Given the description of an element on the screen output the (x, y) to click on. 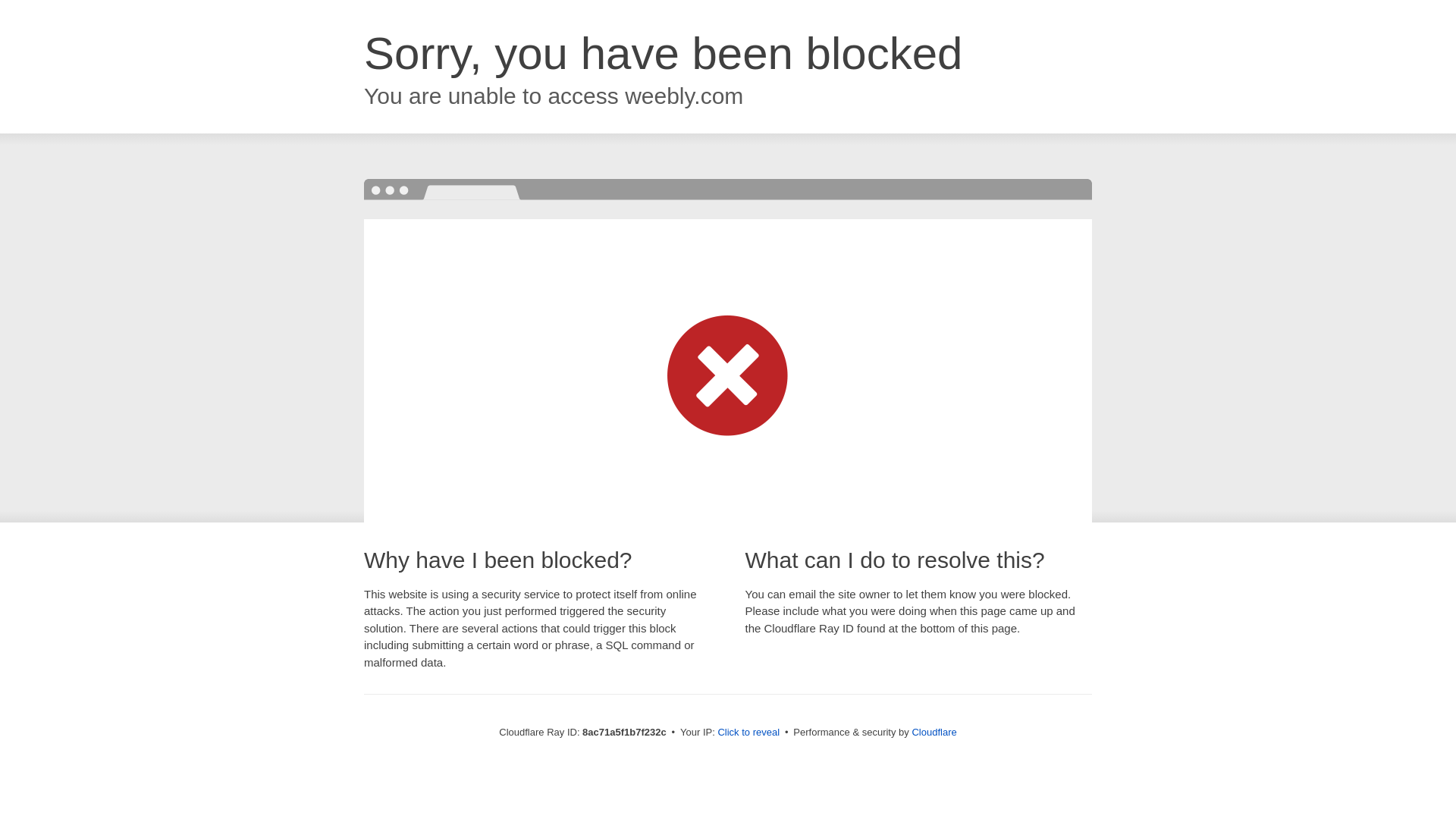
Cloudflare (933, 731)
Click to reveal (747, 732)
